Given the description of an element on the screen output the (x, y) to click on. 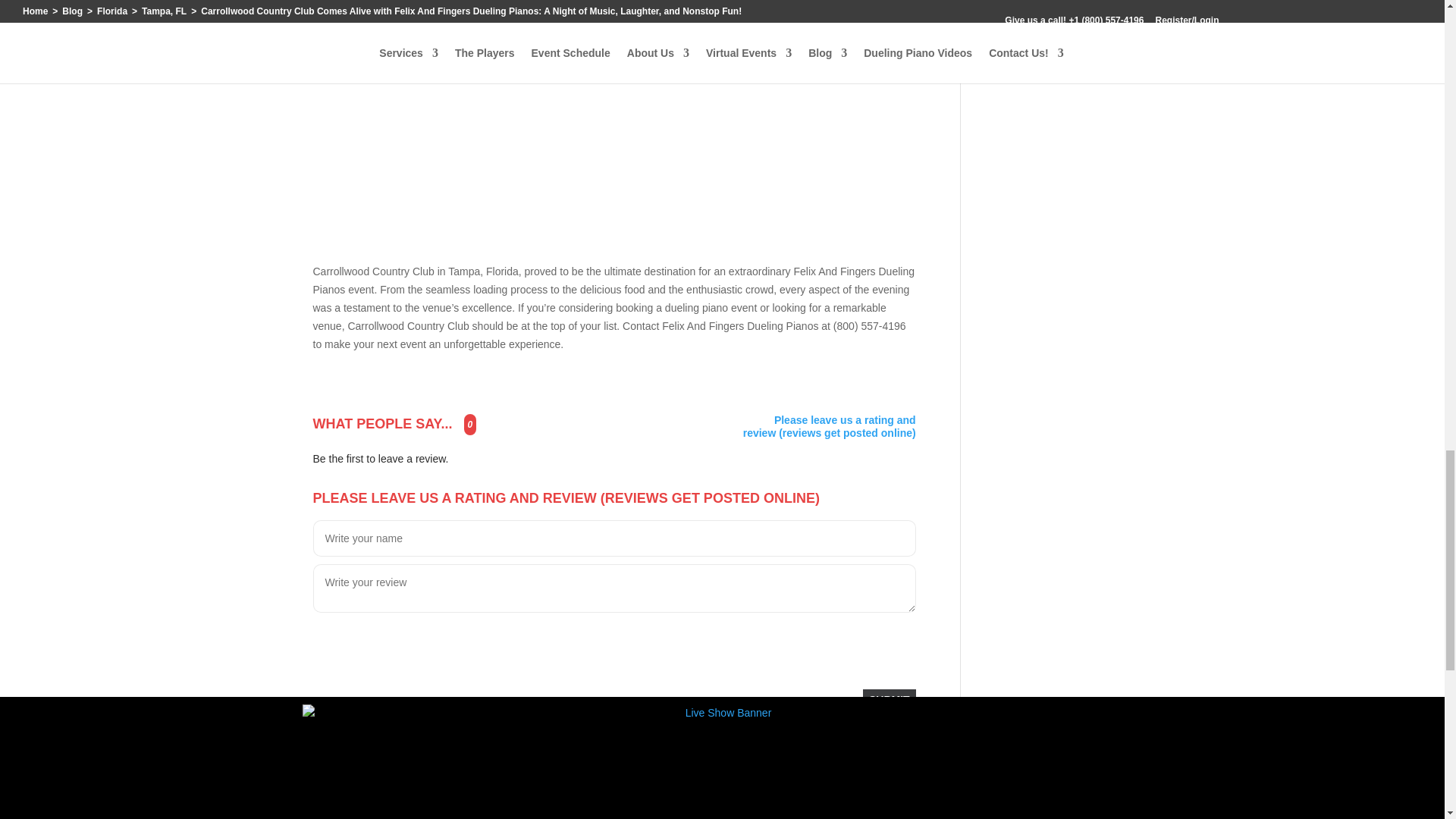
Submit (889, 699)
Twinning in Wedding Planning (378, 792)
Unlocking the Magic of Maison Albion (641, 792)
Chris Edwards Solo Piano 4 (495, 123)
Bringing Visions to Life: An Uptown Chat with Jeremy Rossi (509, 792)
